Given the description of an element on the screen output the (x, y) to click on. 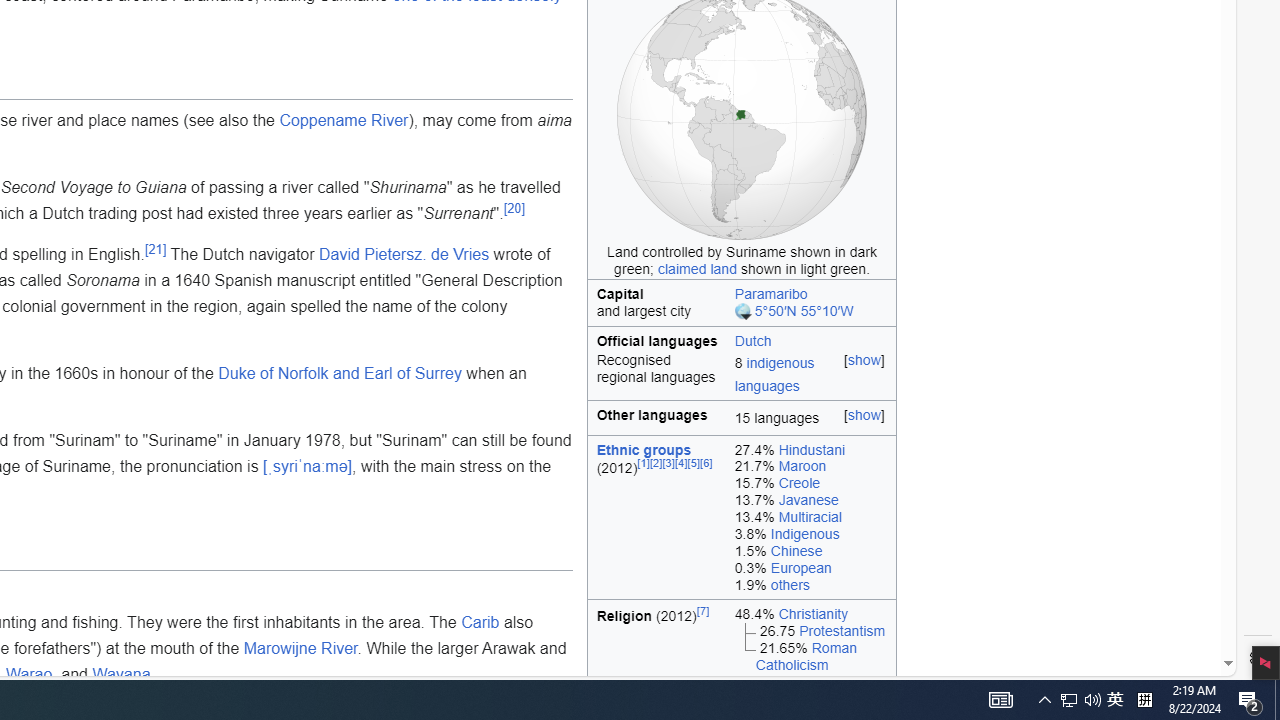
Indigenous (804, 534)
Dutch (811, 339)
Capital and largest city (657, 302)
Warao (28, 674)
21.7% Maroon (810, 466)
European (801, 567)
Show location on an interactive map (744, 312)
David Pietersz. de Vries (404, 255)
[5] (694, 463)
1.9% others (810, 585)
Dutch (752, 340)
indigenous languages (774, 373)
